Given the description of an element on the screen output the (x, y) to click on. 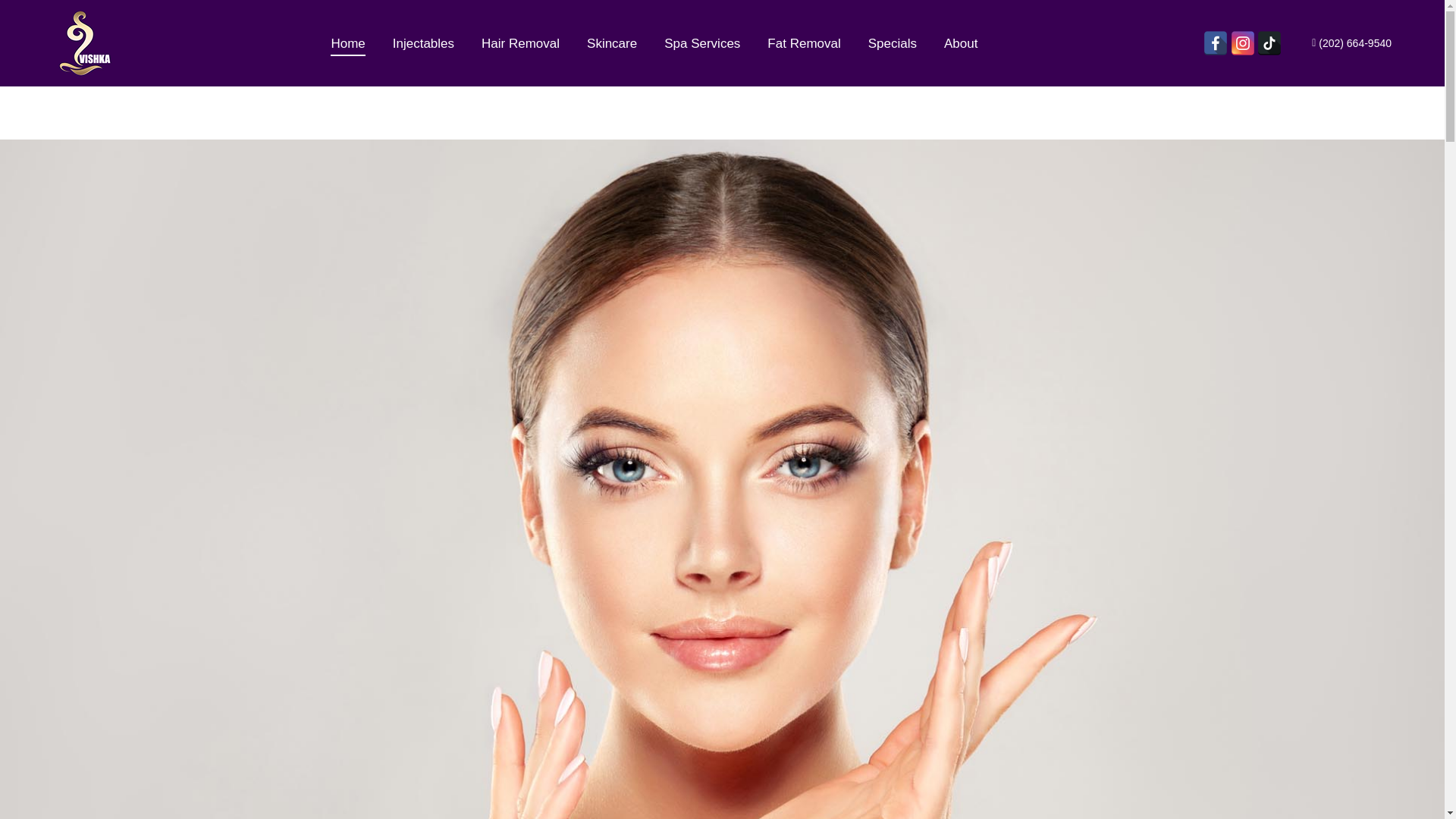
Spa Services (701, 42)
Fat Removal (803, 42)
Skincare (611, 42)
Hair Removal (520, 42)
Instagram (1241, 43)
Facebook (1215, 43)
Specials (892, 42)
Injectables (423, 42)
TikTok (1269, 43)
